Given the description of an element on the screen output the (x, y) to click on. 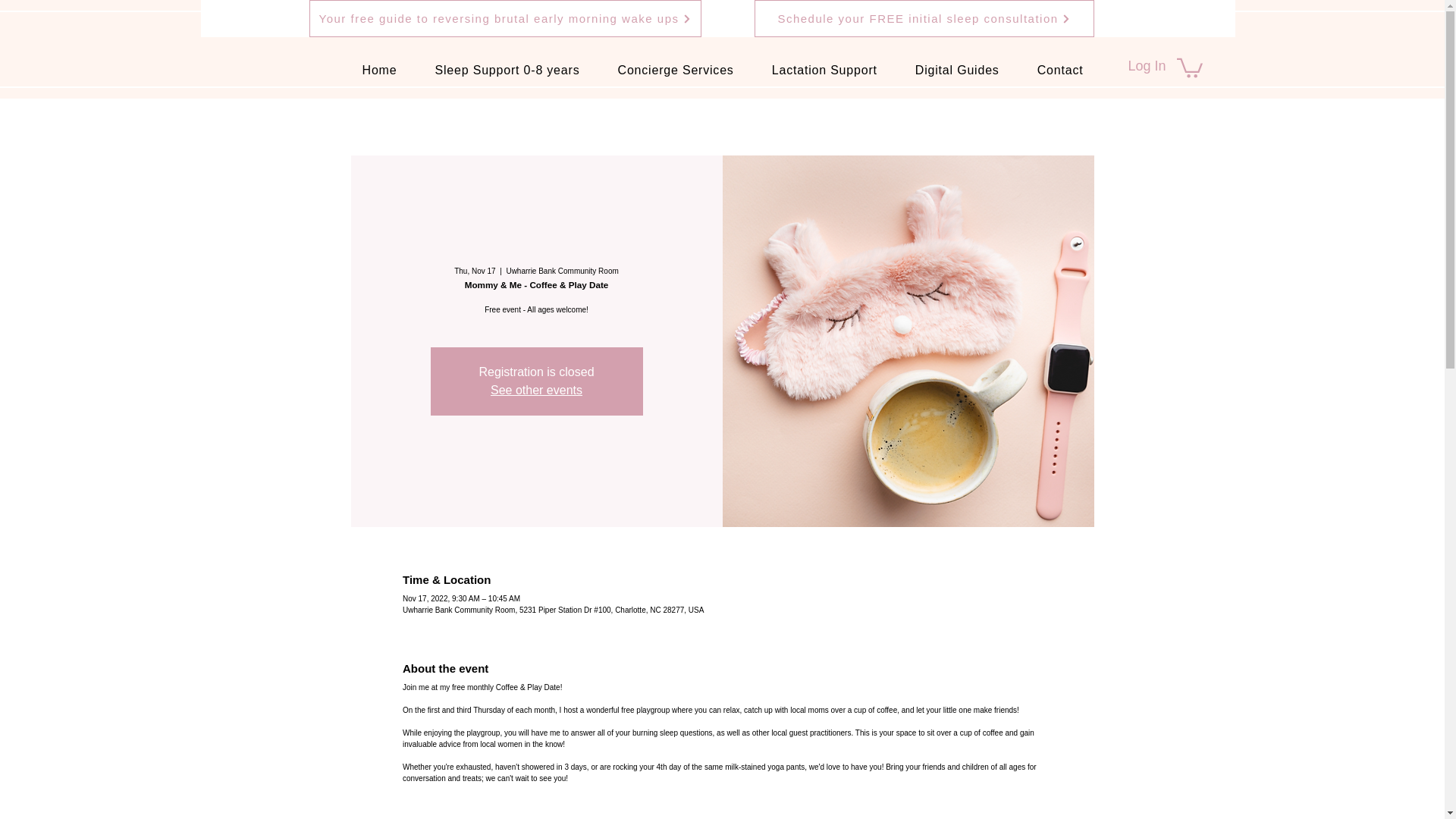
See other events (536, 390)
Digital Guides (956, 70)
Schedule your FREE initial sleep consultation (923, 18)
Sleep Support 0-8 years (507, 70)
Concierge Services (675, 70)
Home (379, 70)
Log In (1146, 66)
Your free guide to reversing brutal early morning wake ups (504, 18)
Lactation Support (824, 70)
Contact (1060, 70)
